Given the description of an element on the screen output the (x, y) to click on. 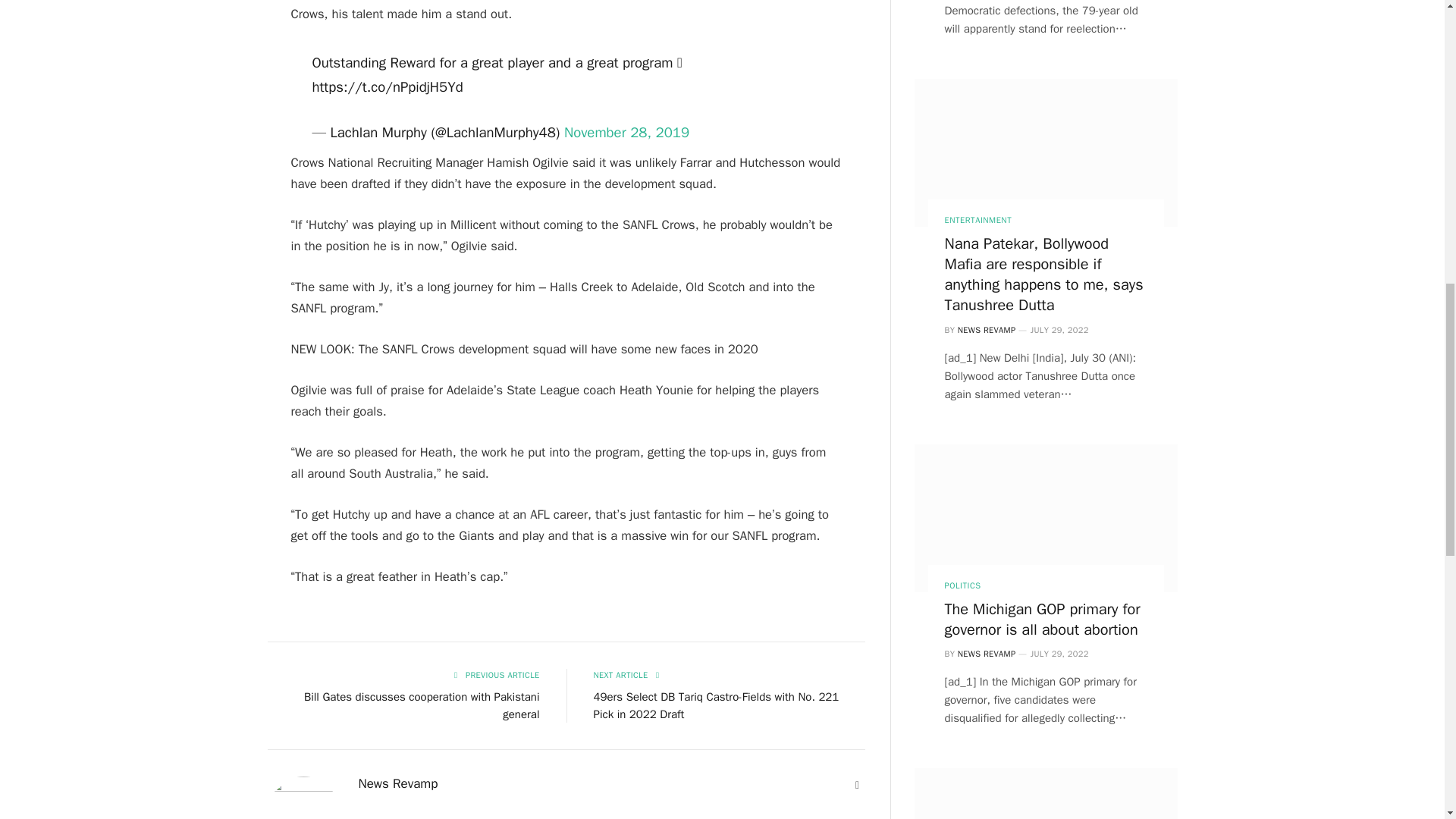
News Revamp (398, 783)
Posts by News Revamp (398, 783)
Bill Gates discusses cooperation with Pakistani general (422, 705)
November 28, 2019 (626, 132)
Website (856, 785)
Website (856, 785)
